Given the description of an element on the screen output the (x, y) to click on. 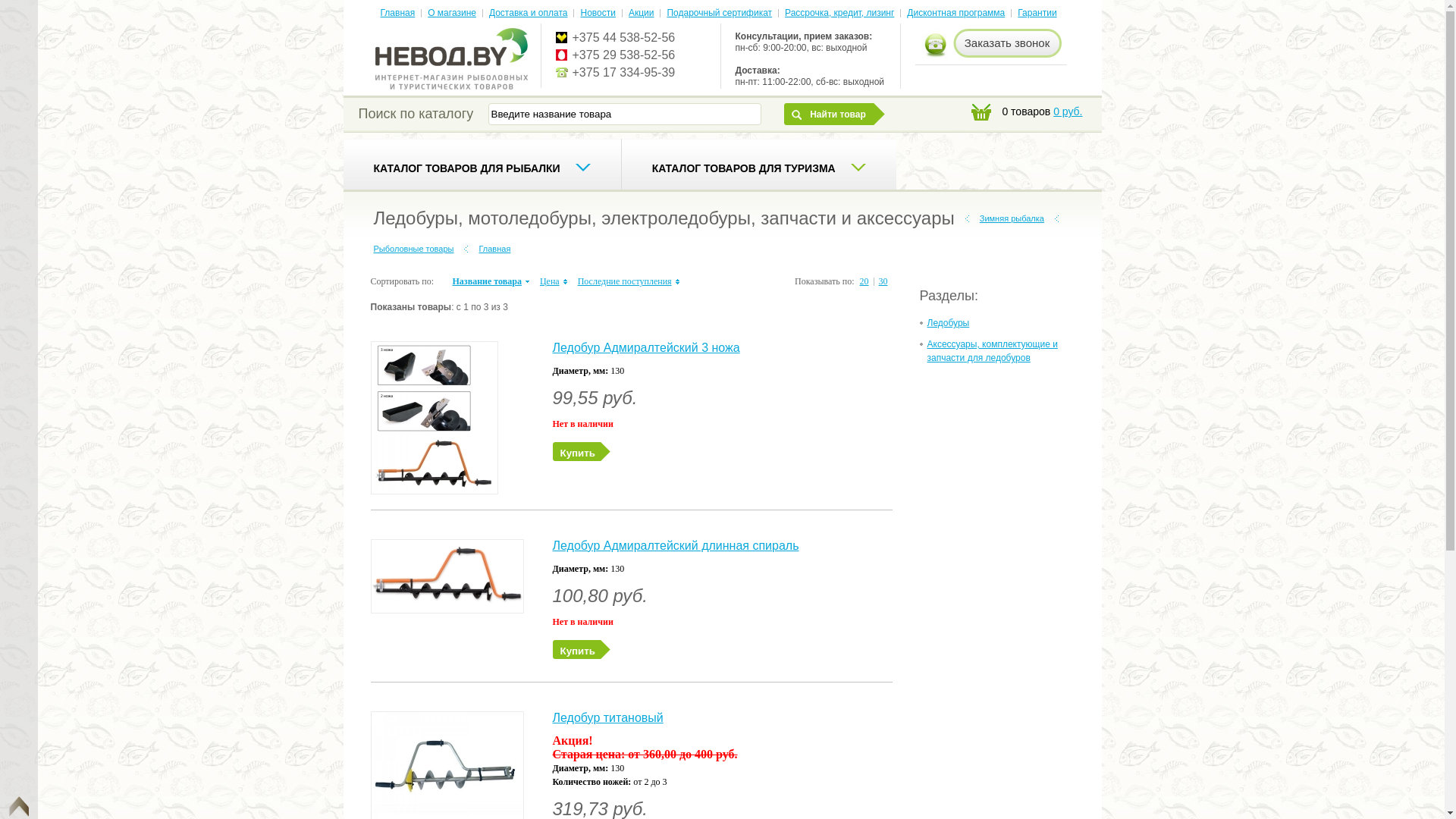
20 Element type: text (864, 281)
+375 29 538-52-56 Element type: text (622, 54)
+375 44 538-52-56 Element type: text (622, 37)
30 Element type: text (882, 281)
+375 17 334-95-39 Element type: text (622, 71)
